Given the description of an element on the screen output the (x, y) to click on. 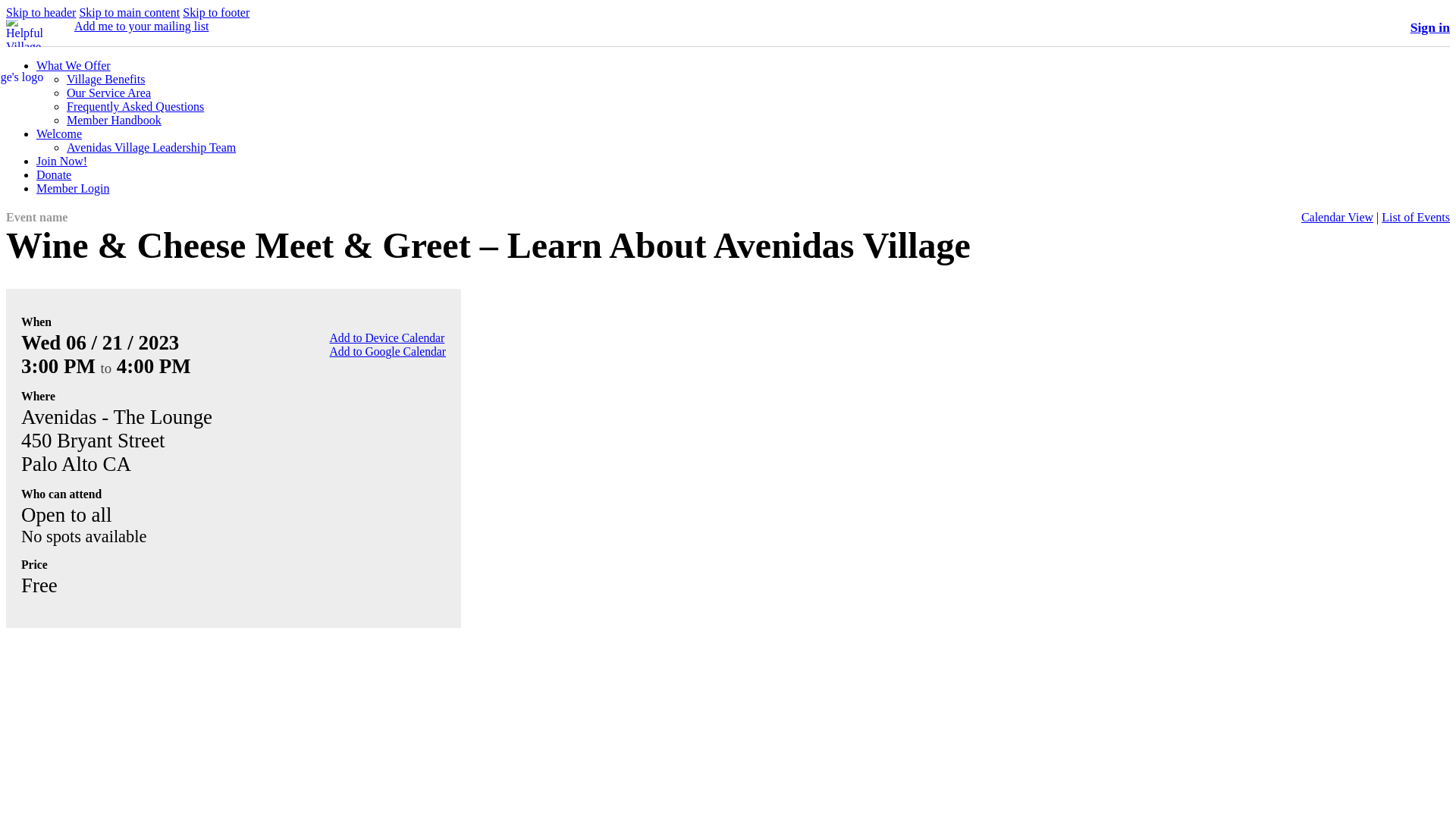
Donate (53, 174)
Add to Google Calendar (387, 350)
Member Handbook (113, 119)
Add to Device Calendar (387, 337)
Avenidas Village Leadership Team (150, 146)
Add me to your mailing list (141, 25)
Our Service Area (108, 92)
What We Offer (73, 65)
Calendar View (1337, 216)
Skip to main content (128, 11)
